Given the description of an element on the screen output the (x, y) to click on. 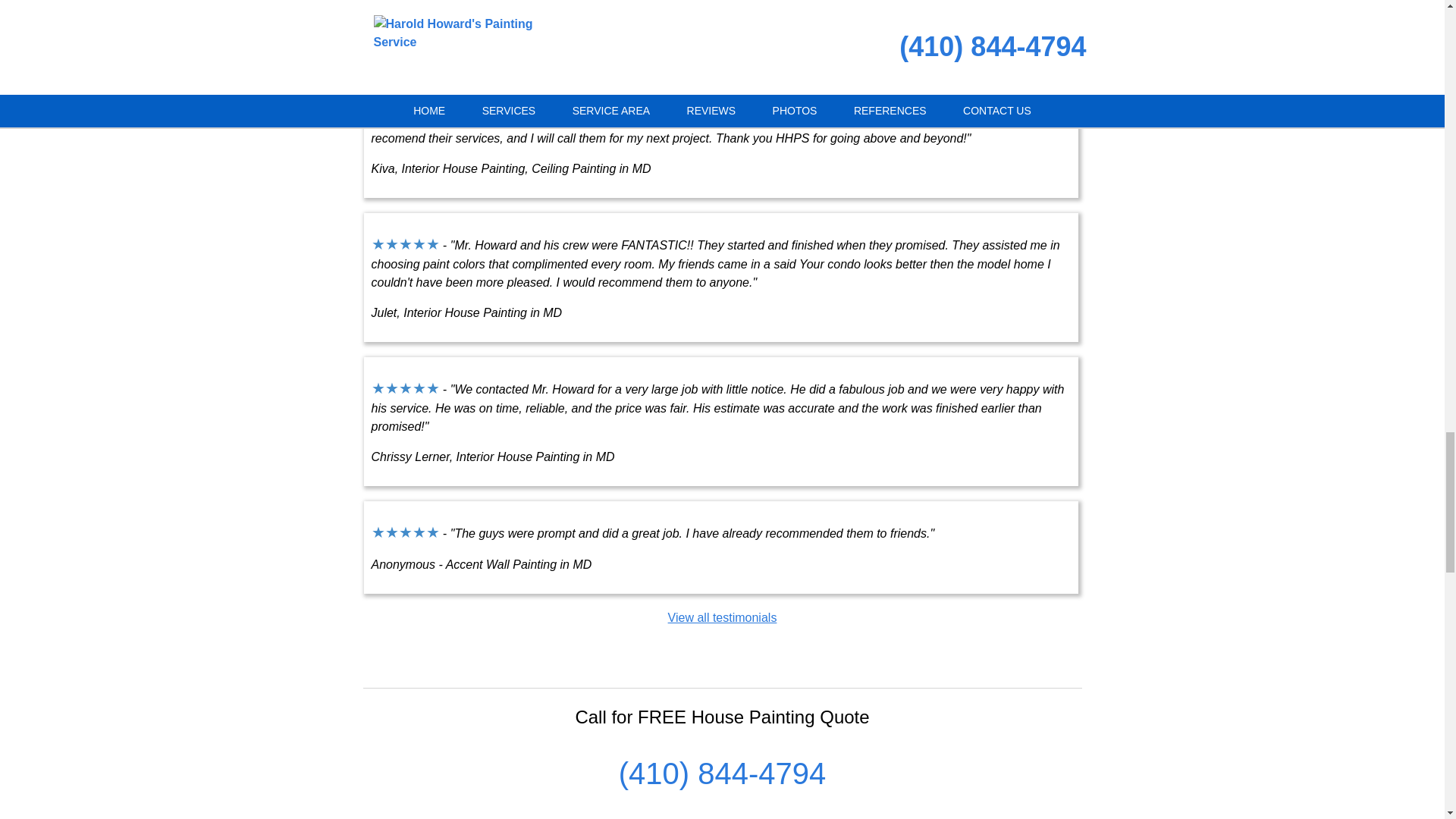
View all testimonials (722, 617)
